Given the description of an element on the screen output the (x, y) to click on. 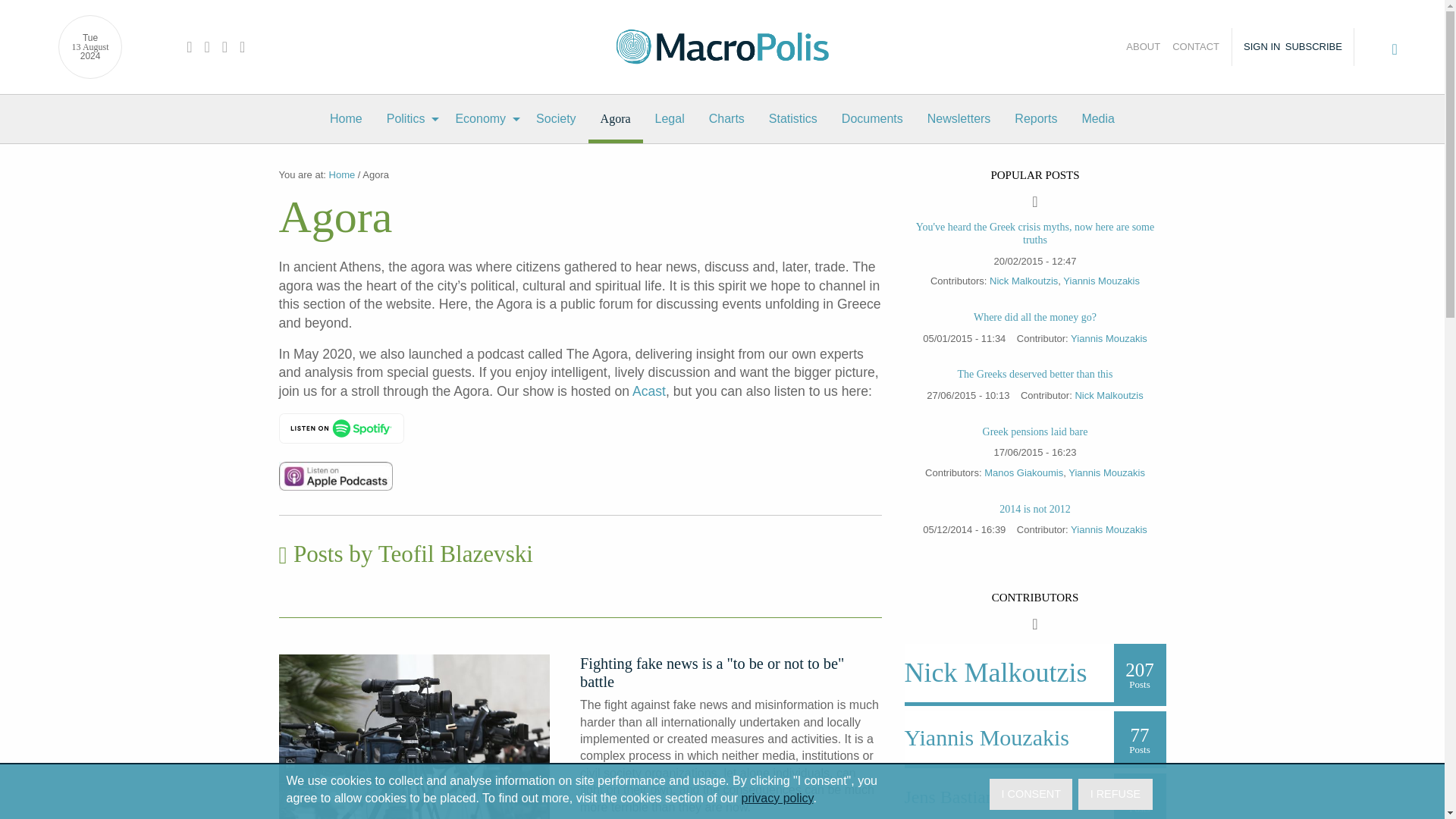
Statistics (793, 119)
Society (556, 119)
Agora (615, 119)
Economy (483, 119)
Acast (648, 391)
Reports (1035, 119)
CONTACT (1198, 47)
SUBSCRIBE (1318, 47)
Legal (670, 119)
ABOUT (1139, 47)
